Given the description of an element on the screen output the (x, y) to click on. 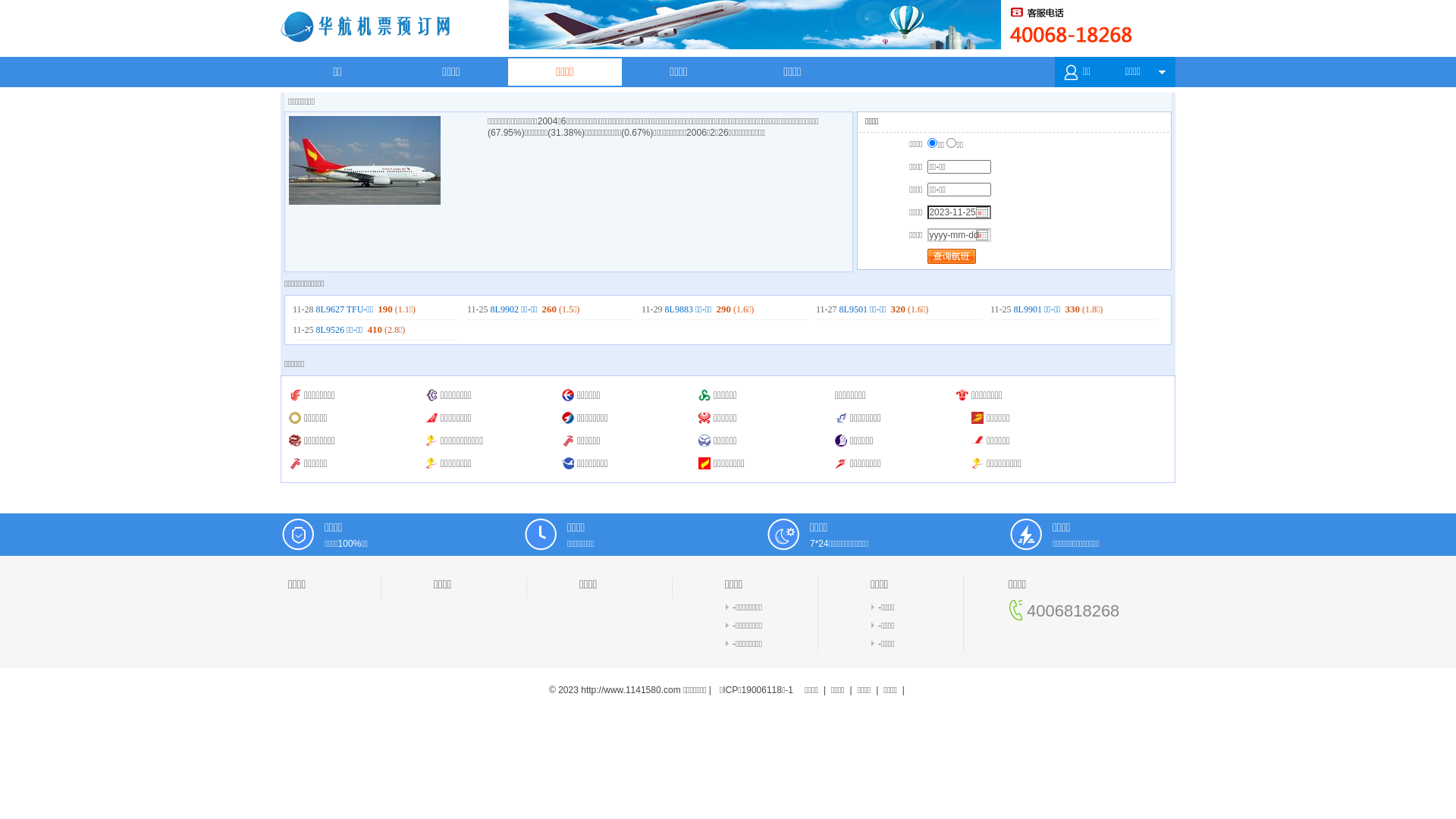
2 Element type: text (951, 142)
yyyy-mm-dd Element type: text (959, 234)
1 Element type: text (932, 142)
WWW.161580.COM Element type: text (416, 28)
2023-11-25 Element type: text (959, 212)
